Given the description of an element on the screen output the (x, y) to click on. 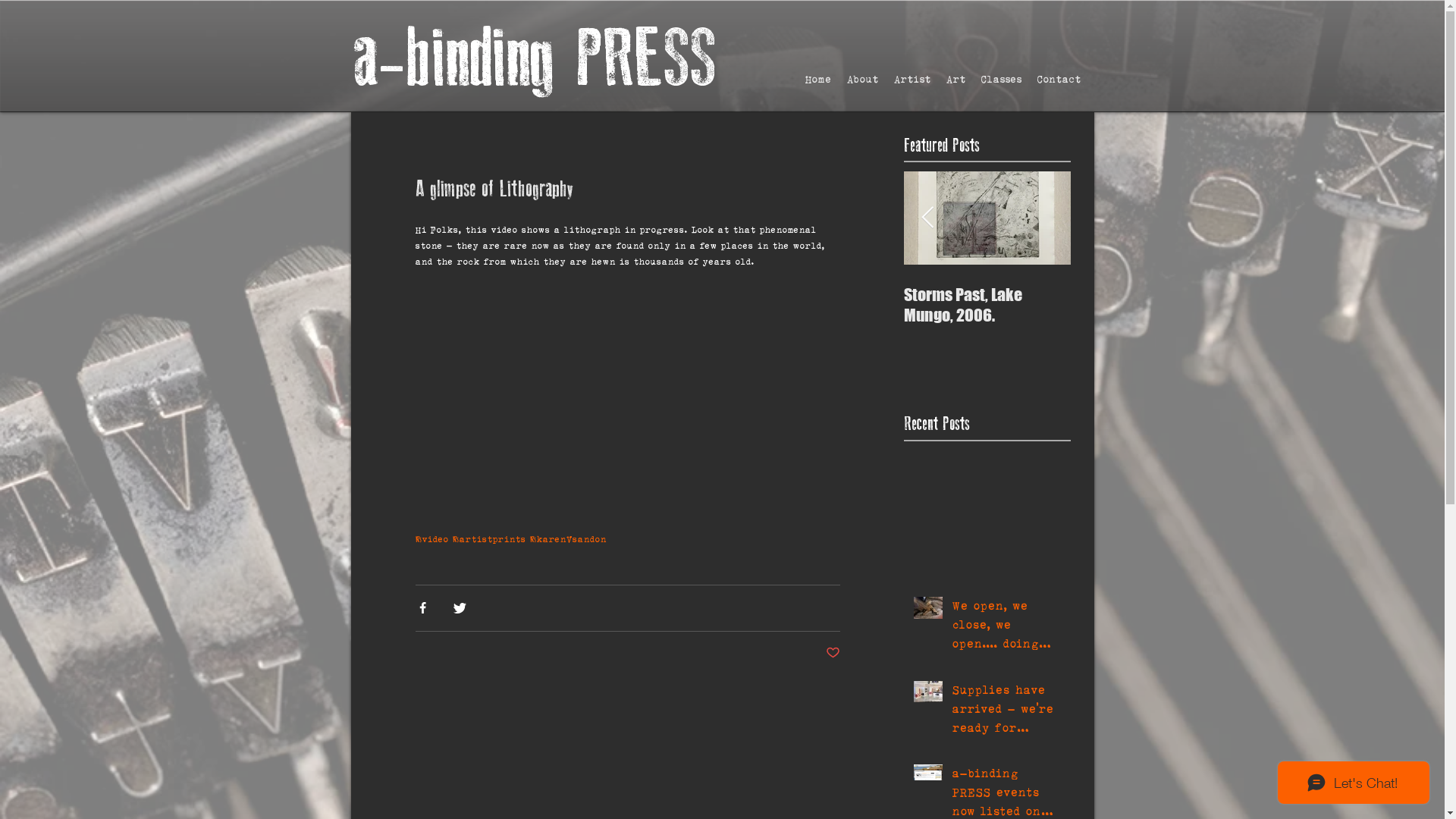
Classes Element type: text (1001, 78)
Artist Element type: text (911, 78)
#karenVsandon Element type: text (567, 538)
We open, we close, we open.... doing the COVID shuffle Element type: text (1006, 627)
a-binding PRESS Element type: text (535, 59)
A glimpse of Lithography Element type: text (820, 294)
About Element type: text (861, 78)
a-binding PRESS events now listed on visitbasscoast.com. Element type: text (653, 314)
Contact Element type: text (1058, 78)
Post not marked as liked Element type: text (832, 653)
Storms Past, Lake Mungo, 2006. Element type: text (986, 304)
Art Element type: text (955, 78)
Home Element type: text (818, 78)
#video Element type: text (431, 538)
Supplies have arrived - we're ready for workshops! Element type: text (486, 314)
Supplies have arrived - we're ready for workshops! Element type: text (1006, 711)
#artistprints Element type: text (488, 538)
